Given the description of an element on the screen output the (x, y) to click on. 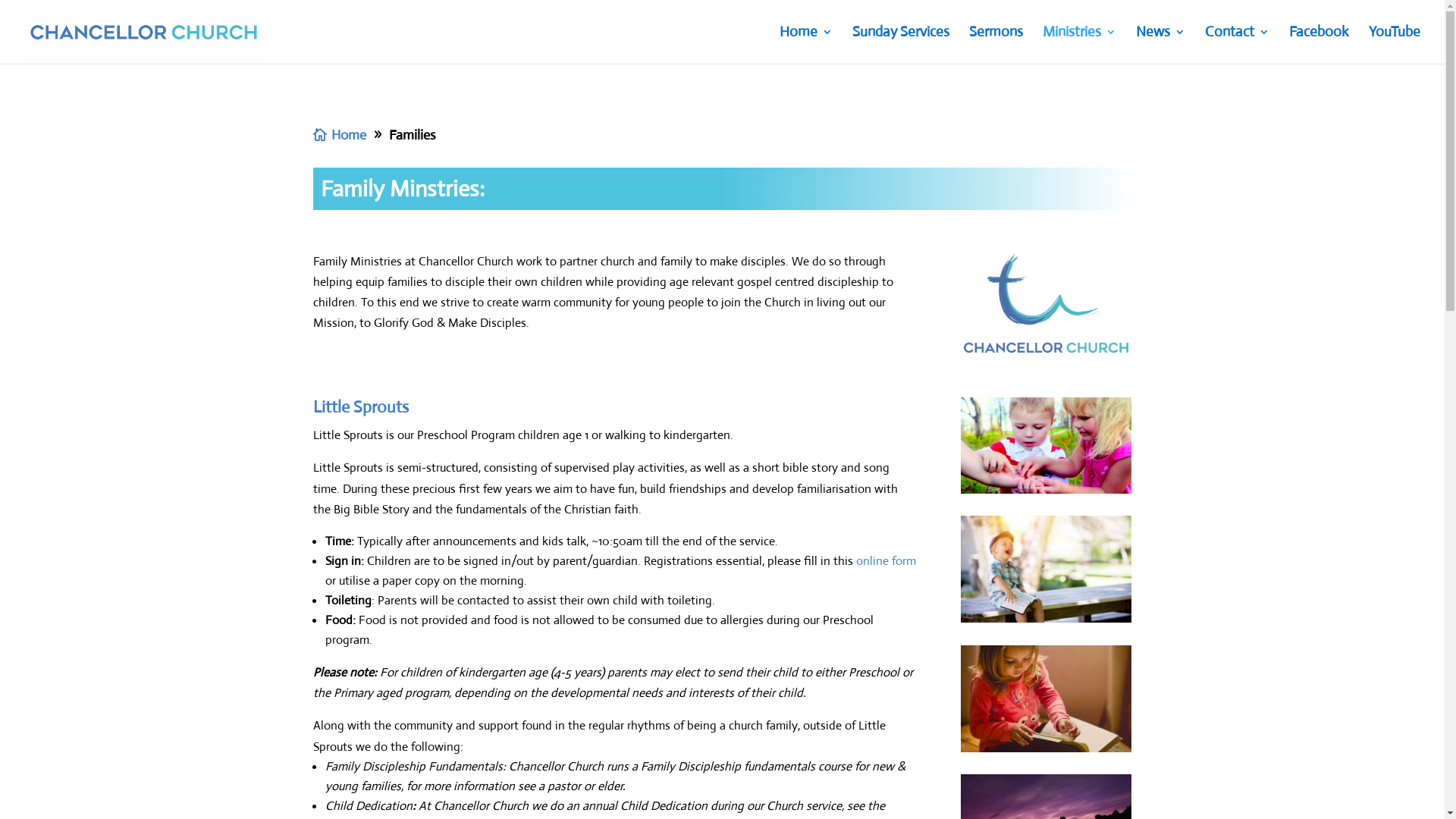
Facebook Element type: text (1319, 44)
CCLogo Element type: hover (1045, 303)
online form Element type: text (885, 560)
Sermons Element type: text (995, 44)
YouTube Element type: text (1394, 44)
Home Element type: text (341, 134)
Sunday Services Element type: text (900, 44)
News Element type: text (1160, 44)
Ministries Element type: text (1079, 44)
Home Element type: text (805, 44)
Contact Element type: text (1236, 44)
